Given the description of an element on the screen output the (x, y) to click on. 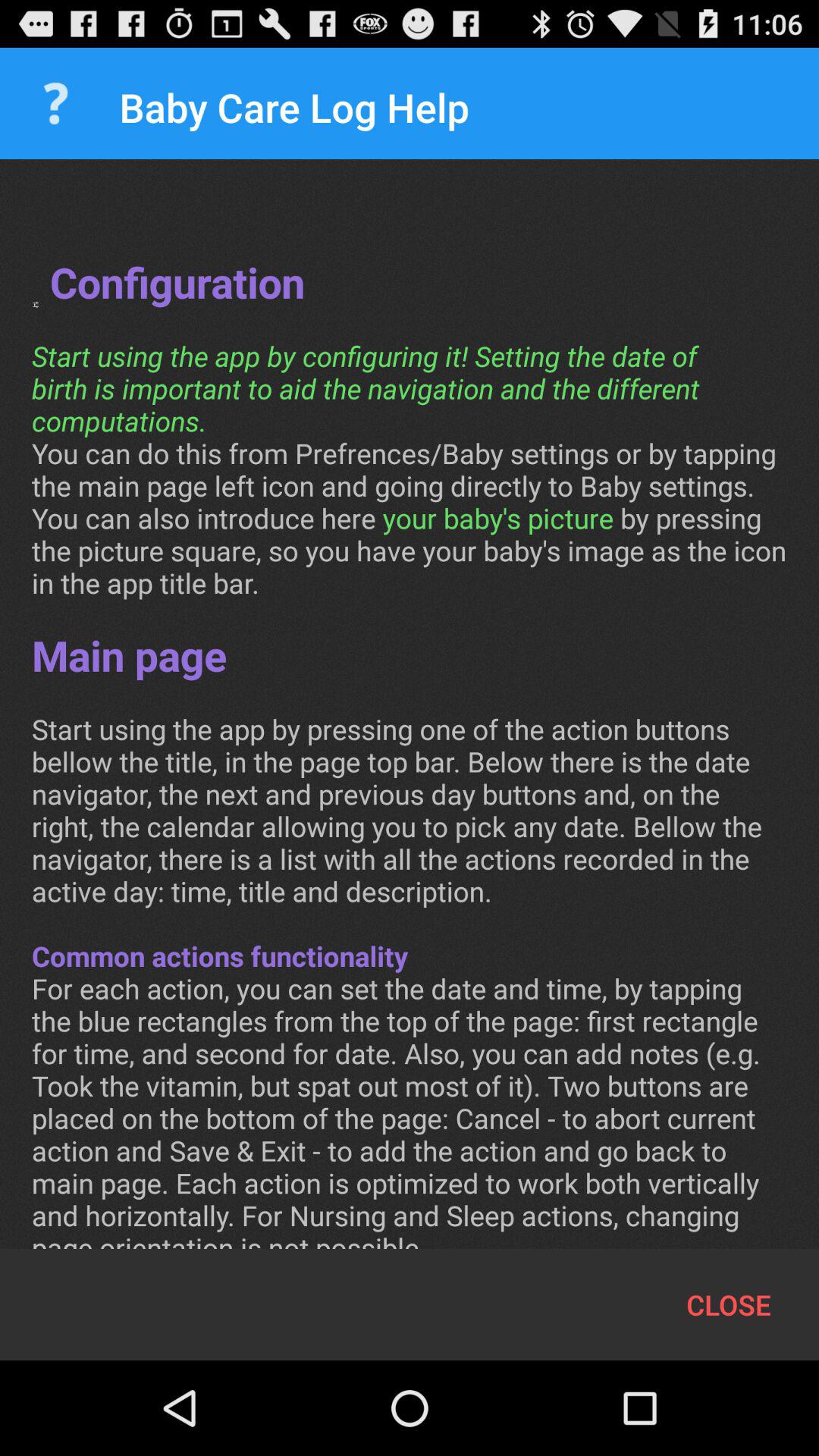
open the conf configuration start at the center (409, 719)
